Given the description of an element on the screen output the (x, y) to click on. 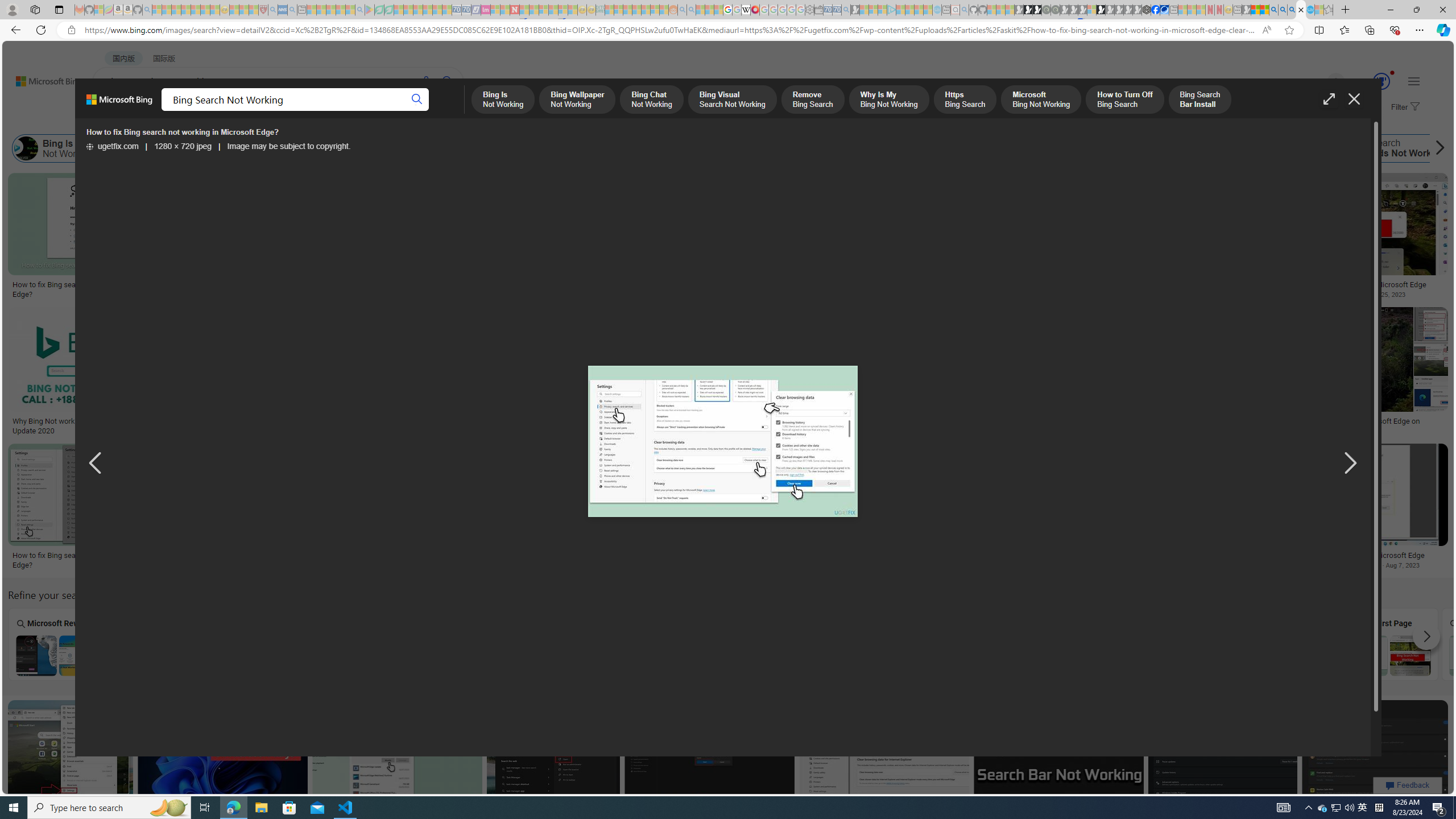
Bing Search Bar Install (1028, 148)
Why First Page of Bing Search Not Working (1387, 655)
Bing Chat Not Working (236, 148)
Bing Bong Plush Toy (809, 246)
Bing Visual Search Not Working (774, 655)
